Given the description of an element on the screen output the (x, y) to click on. 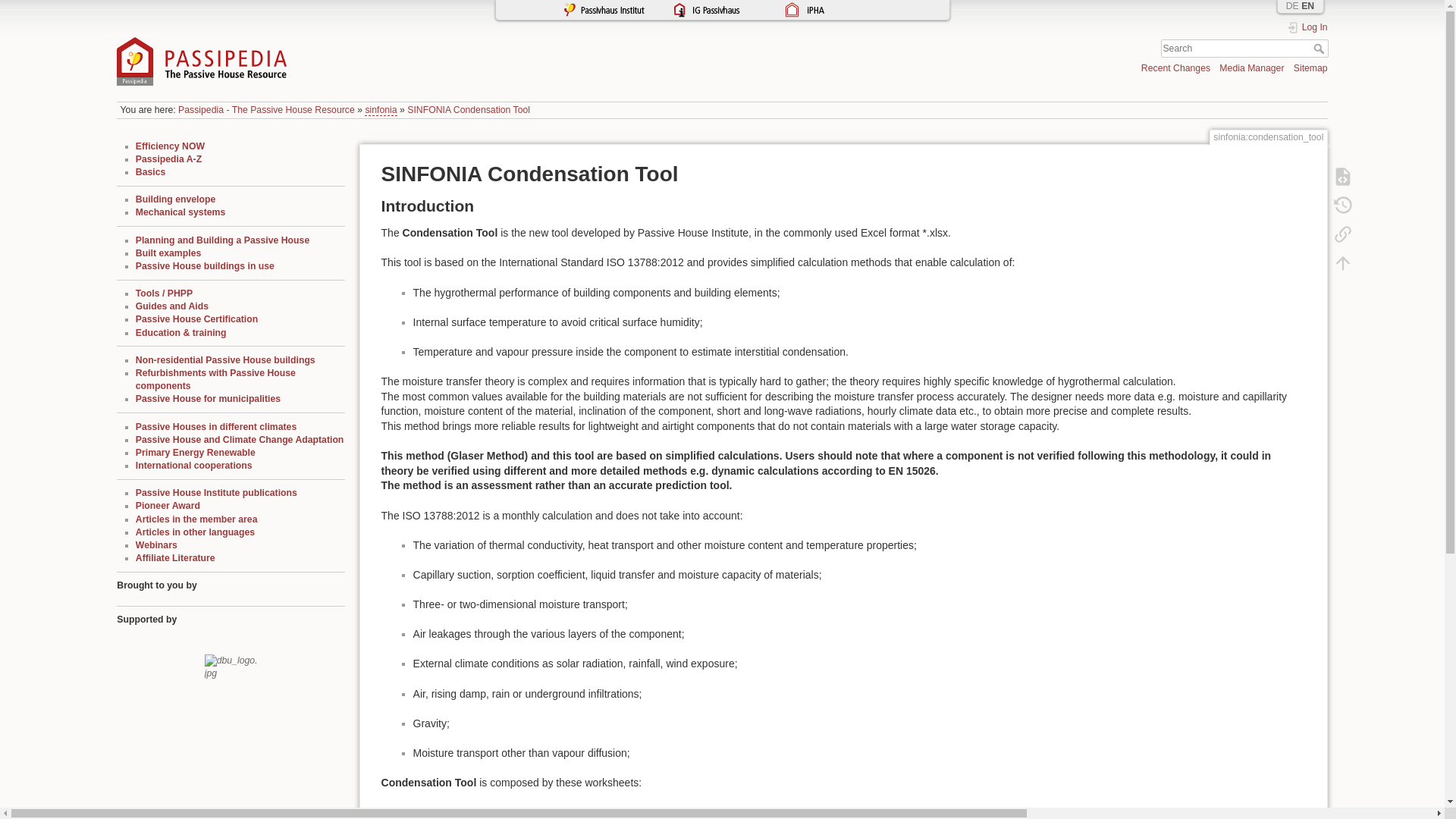
Mechanical systems (180, 212)
Passive House buildings in use (205, 266)
SINFONIA Condensation Tool (468, 109)
Passive House Certification (196, 318)
Passipedia - The Passive House Resource (266, 109)
Built examples (167, 253)
Media Manager (1252, 68)
sinfonia (380, 110)
Articles in other languages (194, 532)
Media Manager (1252, 68)
Passive House and Climate Change Adaptation (239, 439)
Primary Energy Renewable (195, 452)
Search (1320, 48)
Recent Changes (1175, 68)
Articles in the member area (196, 519)
